Given the description of an element on the screen output the (x, y) to click on. 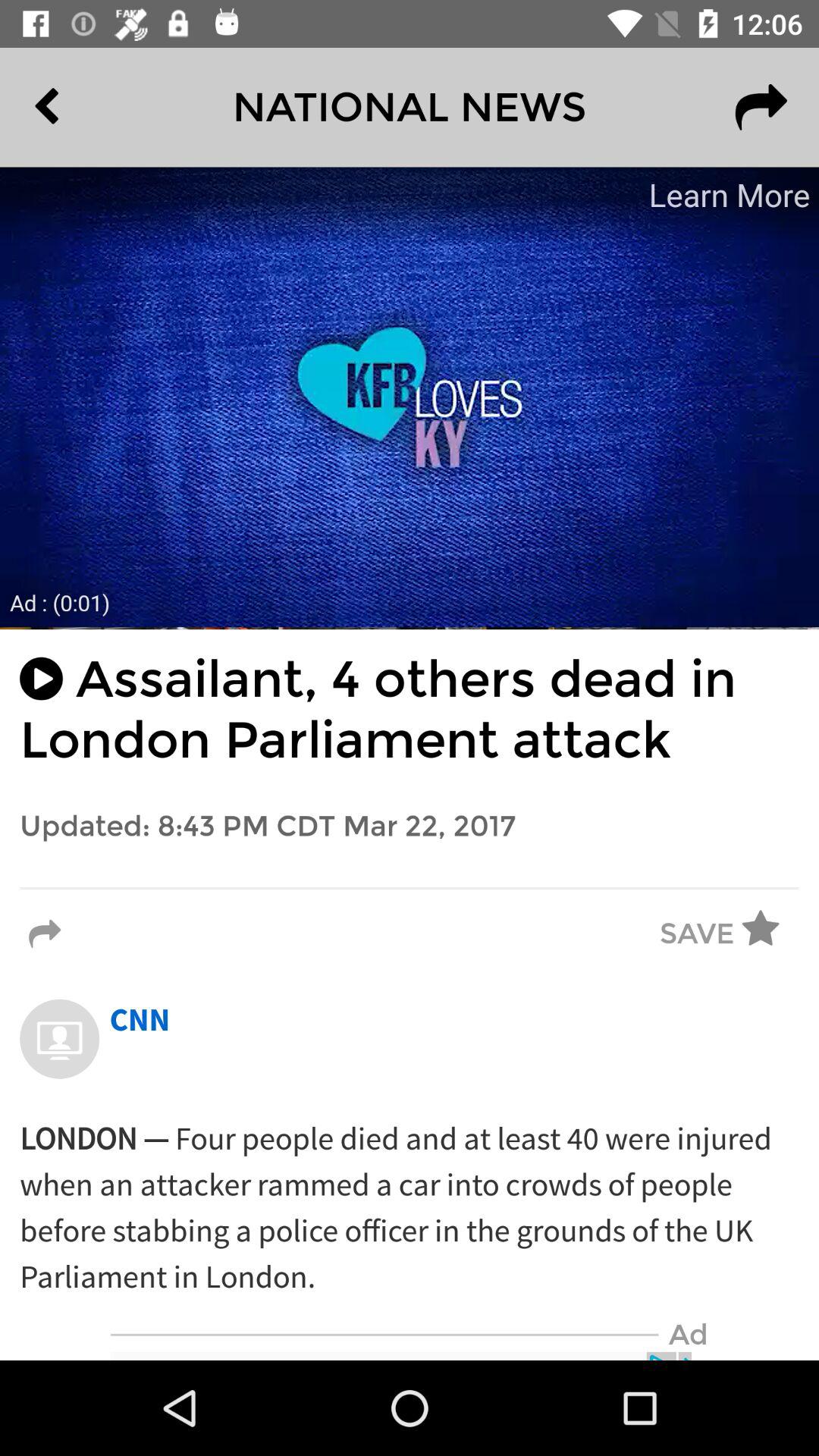
play advertisement (409, 397)
